Given the description of an element on the screen output the (x, y) to click on. 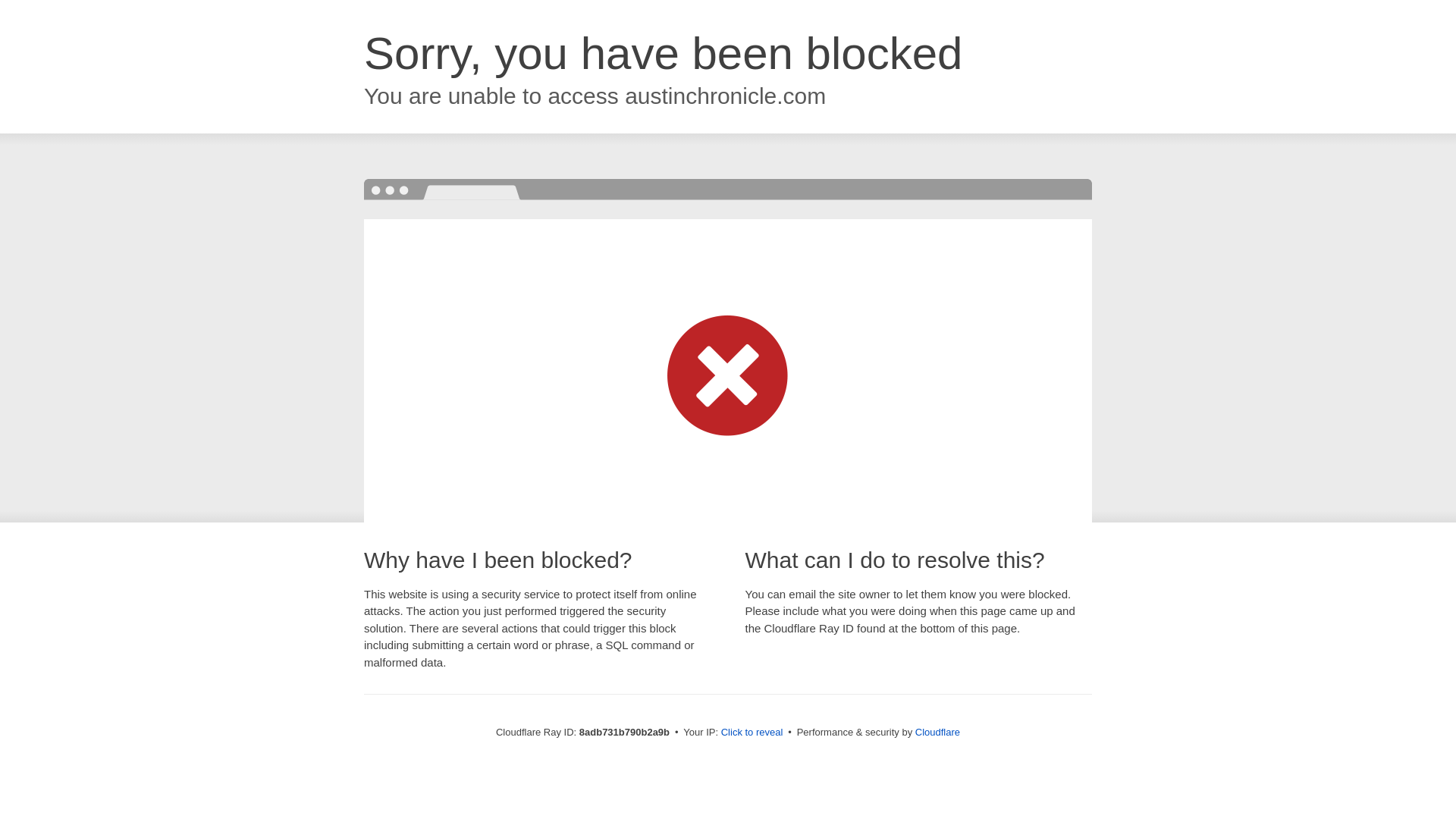
Click to reveal (751, 732)
Cloudflare (937, 731)
